Given the description of an element on the screen output the (x, y) to click on. 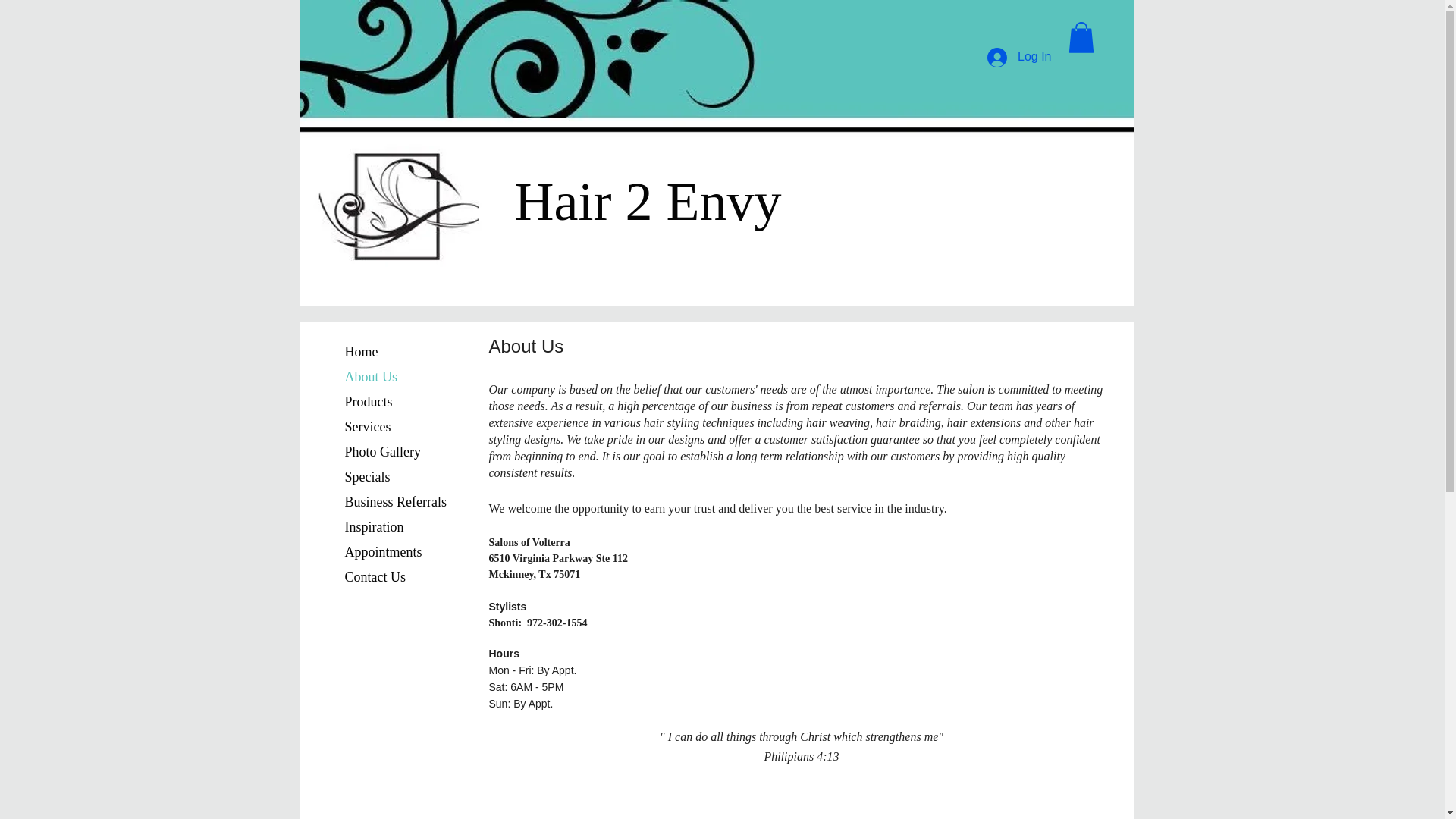
Products (367, 401)
Services (366, 426)
Contact Us (374, 576)
Appointments (382, 551)
Photo Gallery (382, 451)
Specials (366, 477)
Business Referrals (394, 501)
Inspiration (373, 526)
Log In (1018, 57)
About Us (370, 376)
Home (360, 351)
